Given the description of an element on the screen output the (x, y) to click on. 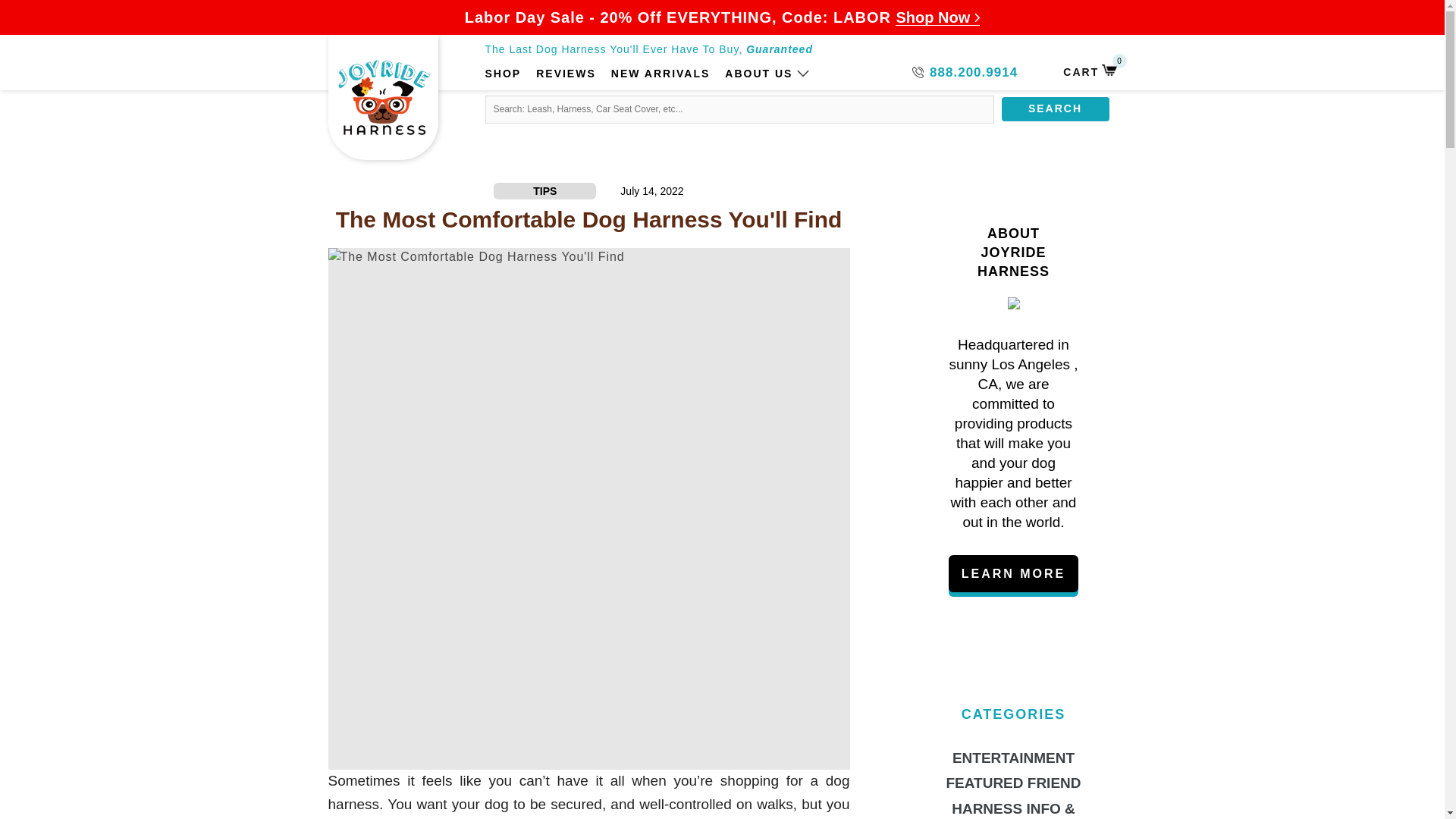
Shop Now (937, 17)
888.200.9914 (964, 72)
SHOP (502, 73)
Skip to content (72, 27)
NEW ARRIVALS (660, 73)
ABOUT US (758, 73)
SEARCH (1089, 71)
REVIEWS (1054, 109)
